Given the description of an element on the screen output the (x, y) to click on. 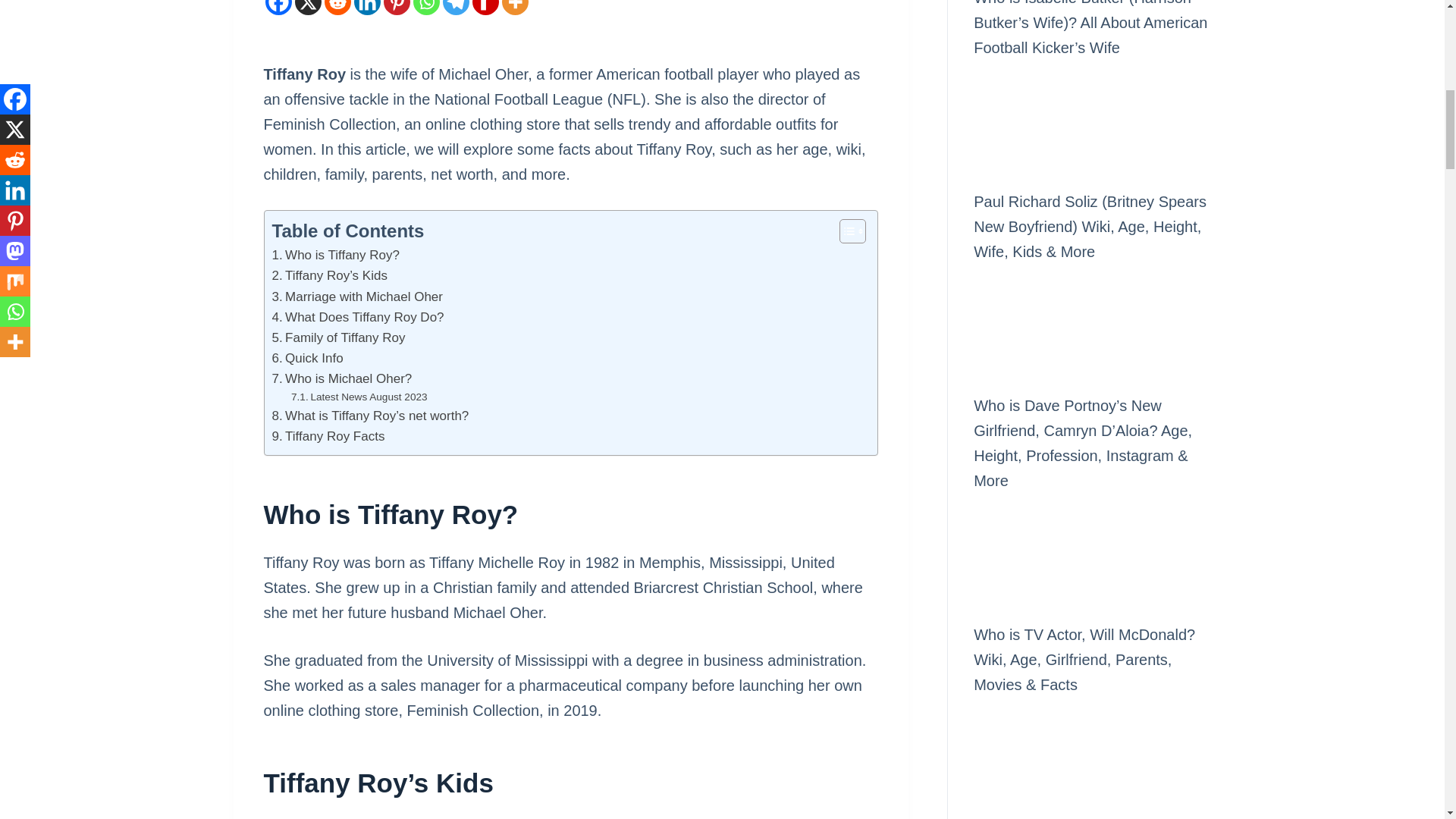
Rediff MyPage (484, 7)
Facebook (278, 7)
Who is Tiffany Roy? (334, 254)
More (515, 7)
Reddit (337, 7)
Pinterest (397, 7)
Marriage with Michael Oher (356, 296)
Linkedin (366, 7)
Telegram (455, 7)
Whatsapp (425, 7)
